Given the description of an element on the screen output the (x, y) to click on. 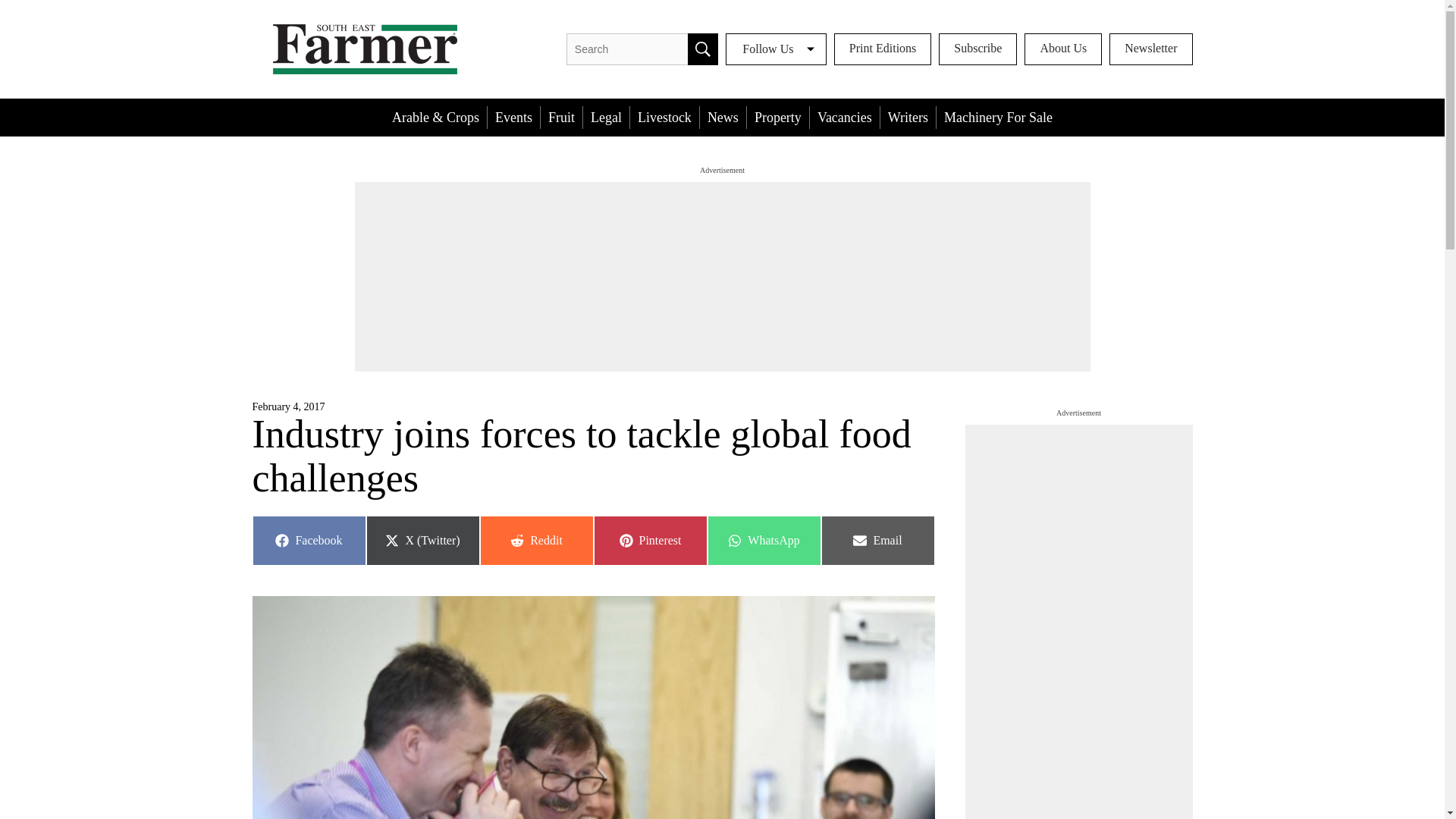
Follow Us (776, 49)
Livestock (664, 117)
Writers (908, 117)
About Us (1063, 49)
Legal (605, 117)
Property (877, 540)
Subscribe (777, 117)
Print Editions (977, 49)
